Given the description of an element on the screen output the (x, y) to click on. 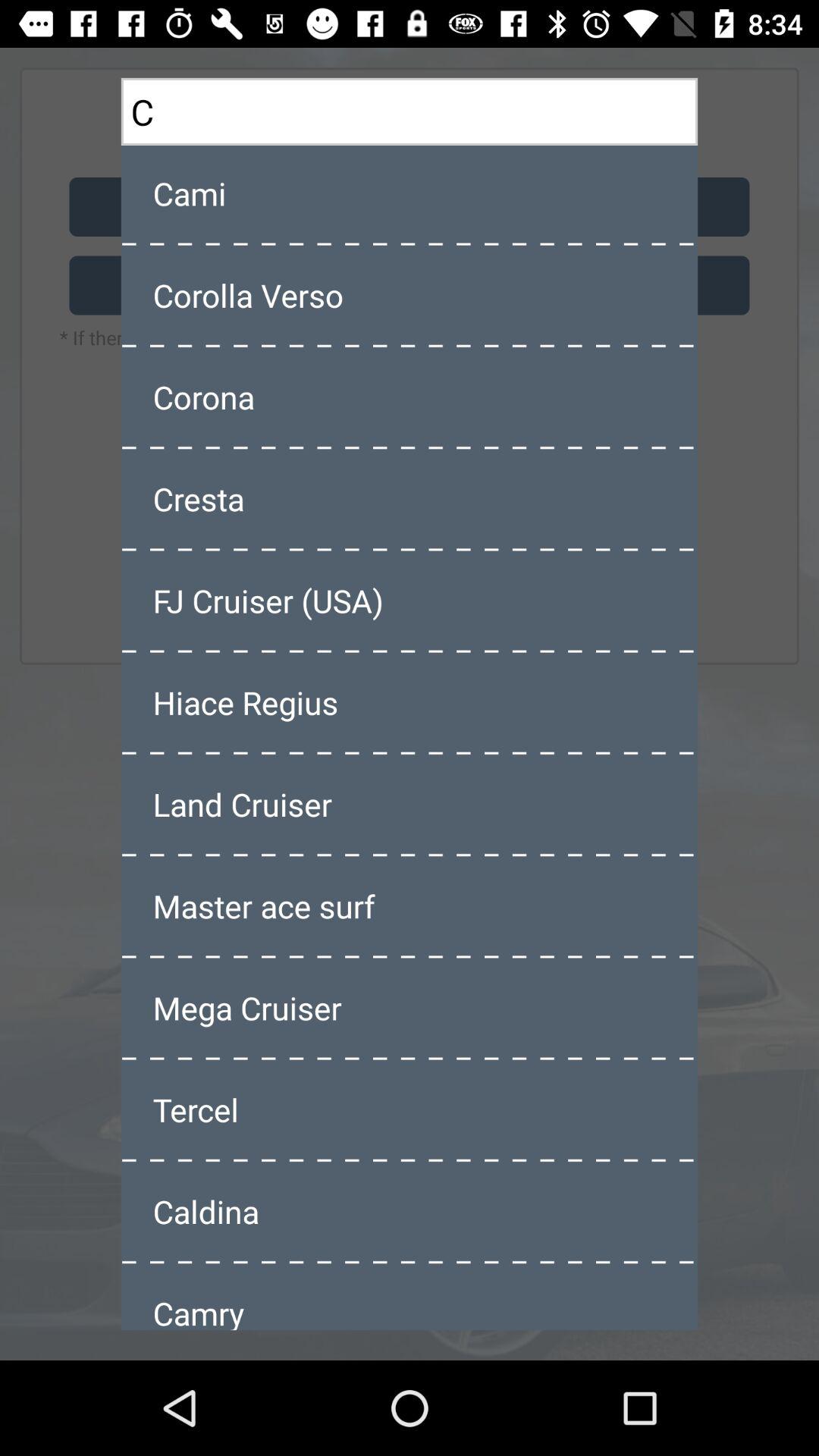
flip until the fj cruiser (usa) (409, 600)
